Given the description of an element on the screen output the (x, y) to click on. 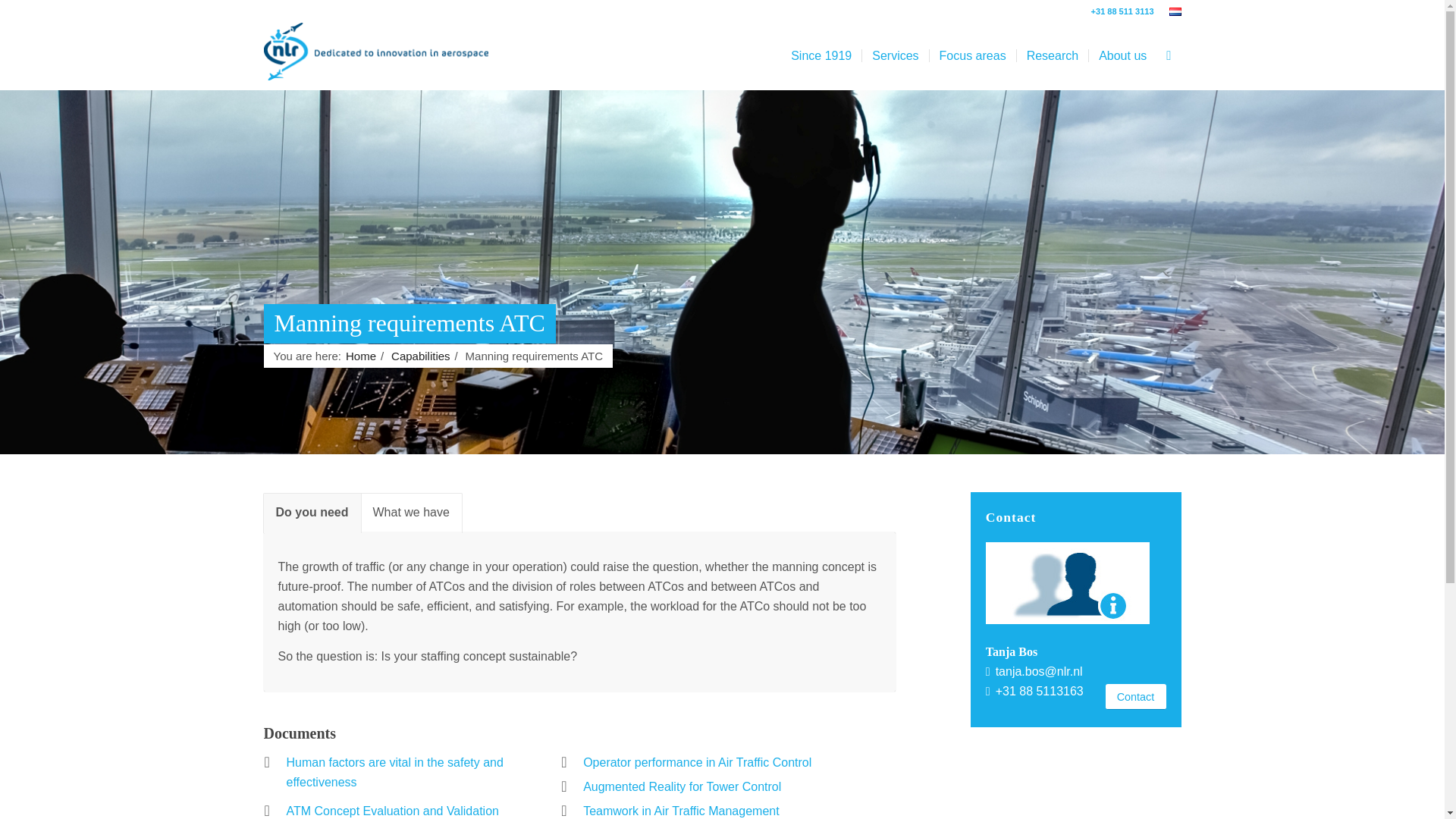
Since 1919 (820, 55)
Focus areas (972, 55)
Permanent Link: Manning requirements ATC (409, 323)
Services (894, 55)
